Given the description of an element on the screen output the (x, y) to click on. 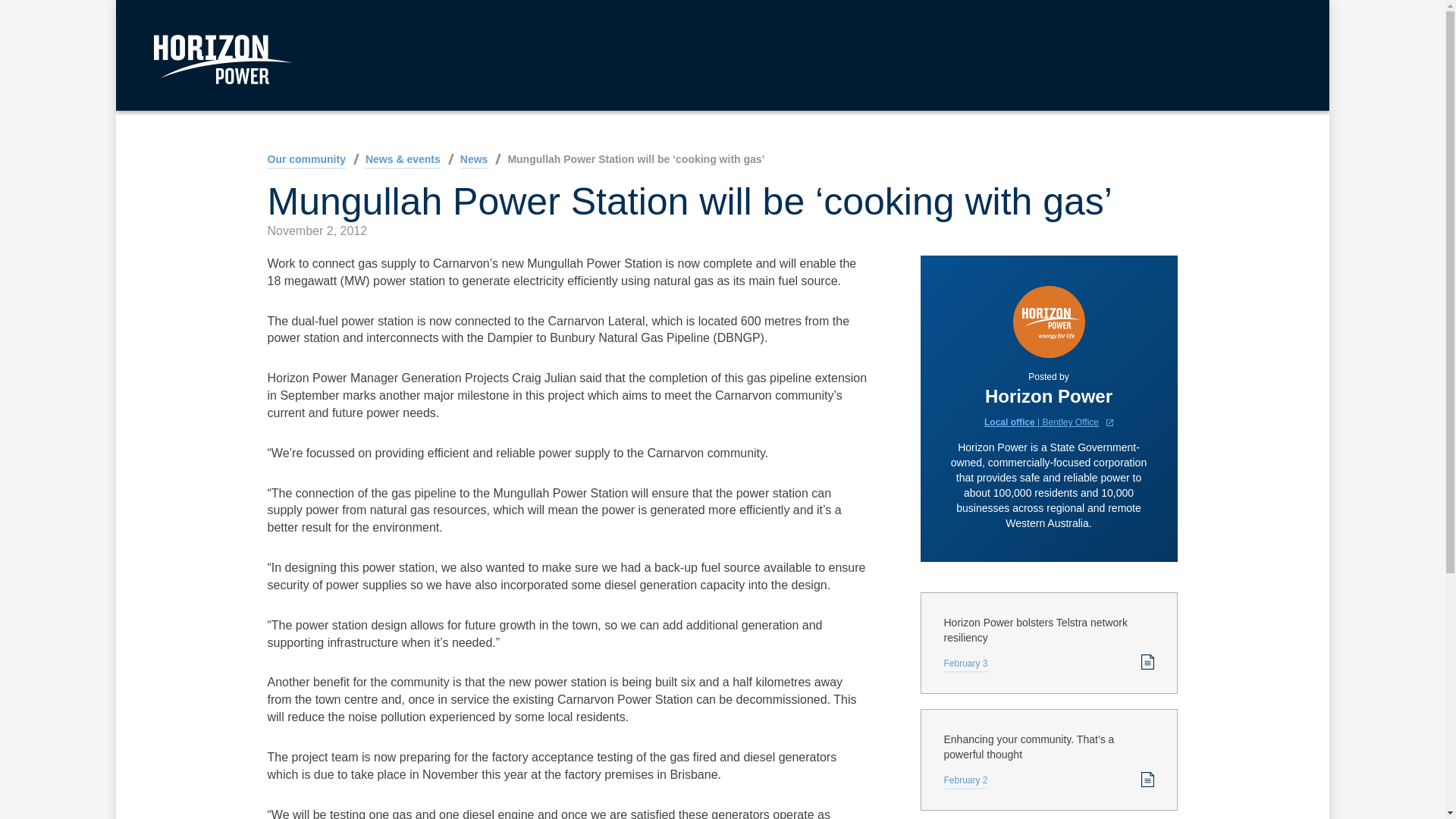
Our community (305, 160)
February 2 (965, 781)
Horizon Power (221, 60)
February 3 (965, 665)
News (473, 160)
